Given the description of an element on the screen output the (x, y) to click on. 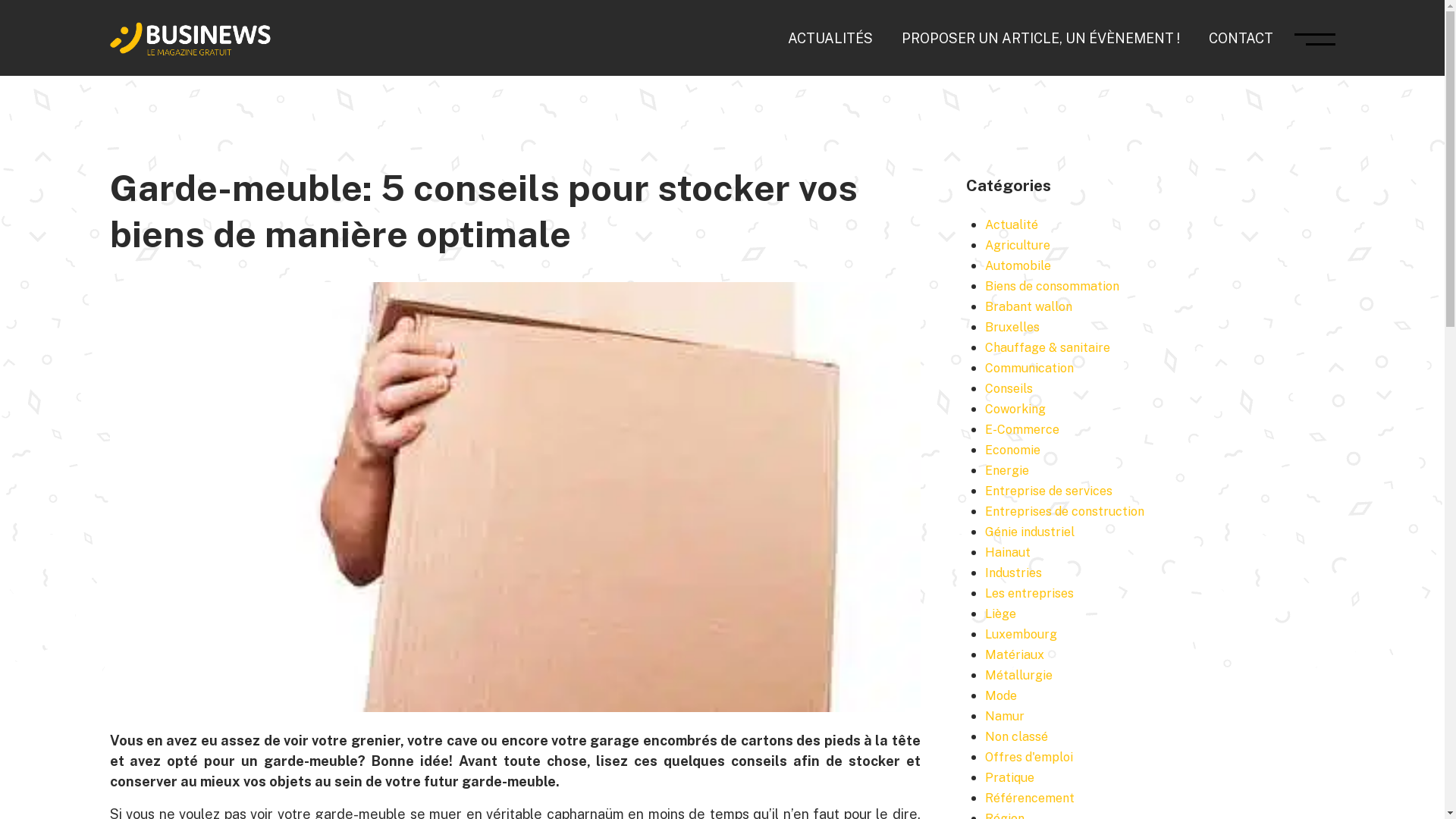
Agriculture Element type: text (1017, 245)
Namur Element type: text (1004, 716)
CONTACT Element type: text (1240, 37)
Les entreprises Element type: text (1029, 593)
Offres d'emploi Element type: text (1029, 756)
Automobile Element type: text (1018, 265)
Biens de consommation Element type: text (1052, 286)
Industries Element type: text (1013, 572)
Pratique Element type: text (1009, 777)
Coworking Element type: text (1015, 408)
Bruxelles Element type: text (1012, 327)
Entreprise de services Element type: text (1048, 490)
Entreprises de construction Element type: text (1064, 511)
Energie Element type: text (1007, 470)
E-Commerce Element type: text (1022, 429)
Hainaut Element type: text (1007, 552)
Conseils Element type: text (1008, 388)
Mode Element type: text (1000, 695)
Brabant wallon Element type: text (1028, 306)
Communication Element type: text (1029, 367)
Chauffage & sanitaire Element type: text (1047, 347)
Economie Element type: text (1012, 449)
Luxembourg Element type: text (1021, 634)
